Given the description of an element on the screen output the (x, y) to click on. 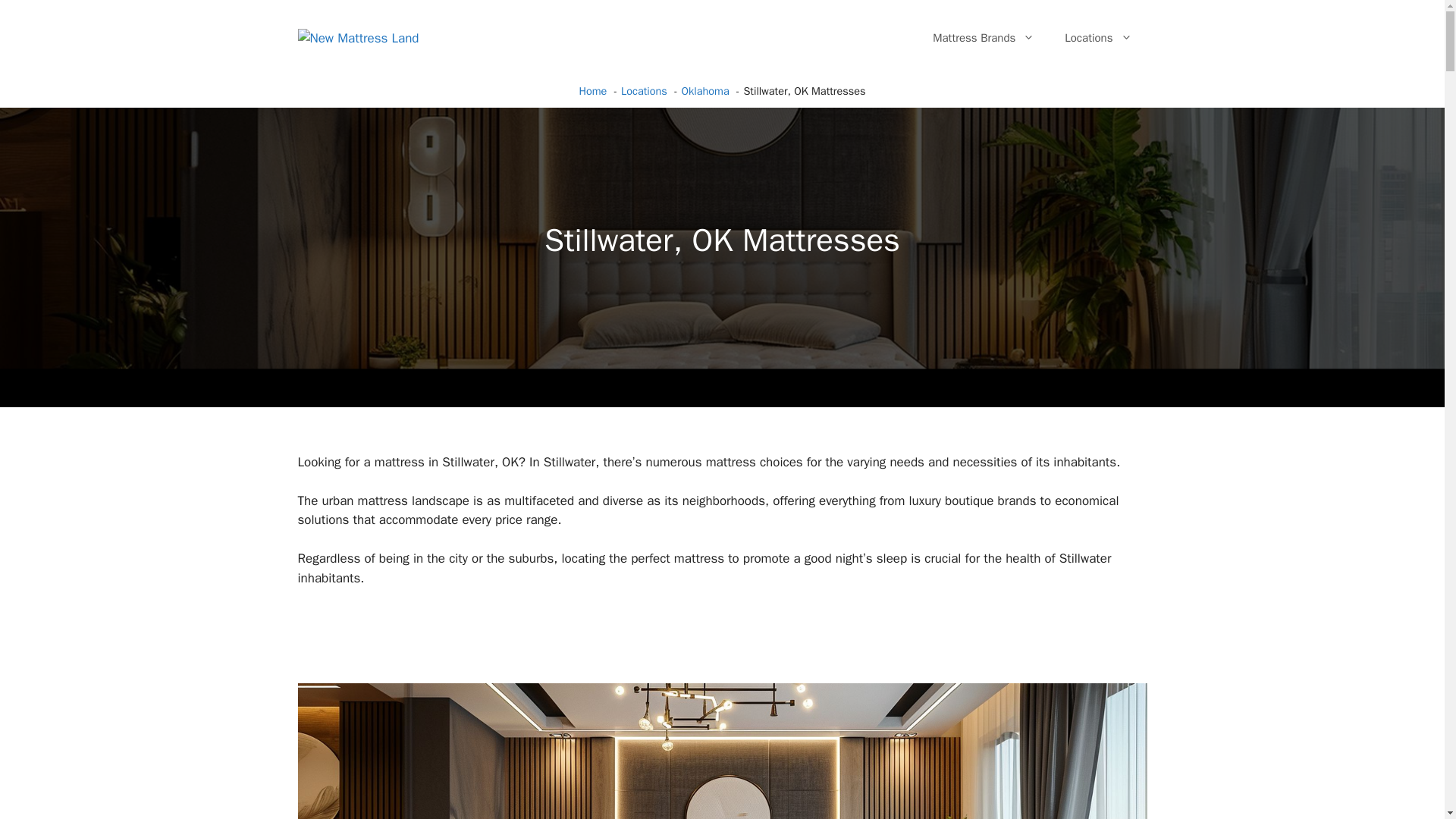
Home (592, 90)
Mattress Brands (983, 37)
Oklahoma (705, 90)
Locations (643, 90)
Locations (1098, 37)
